Given the description of an element on the screen output the (x, y) to click on. 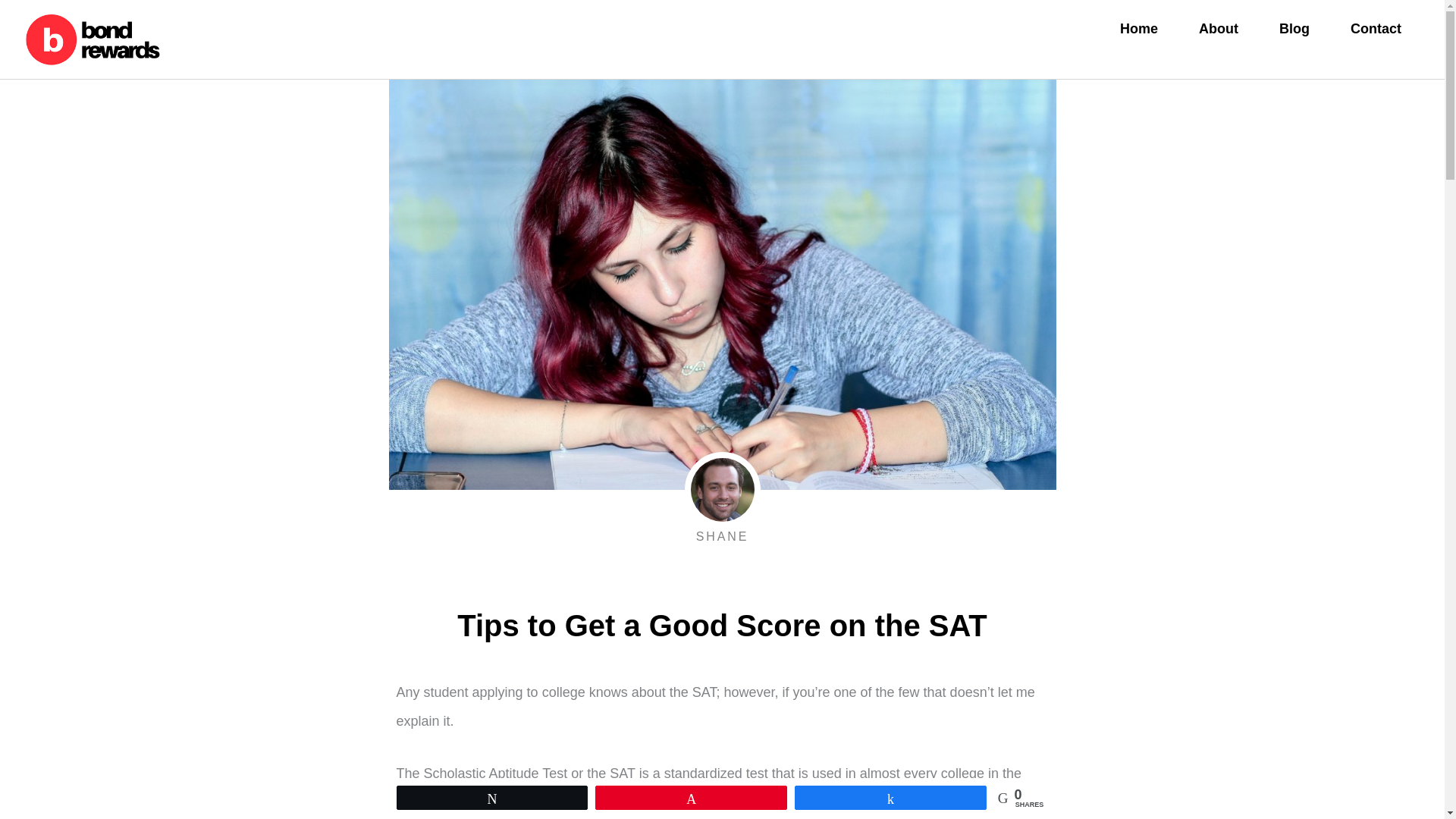
Blog (1294, 28)
Contact (1376, 28)
About (1218, 28)
Home (1138, 28)
